Given the description of an element on the screen output the (x, y) to click on. 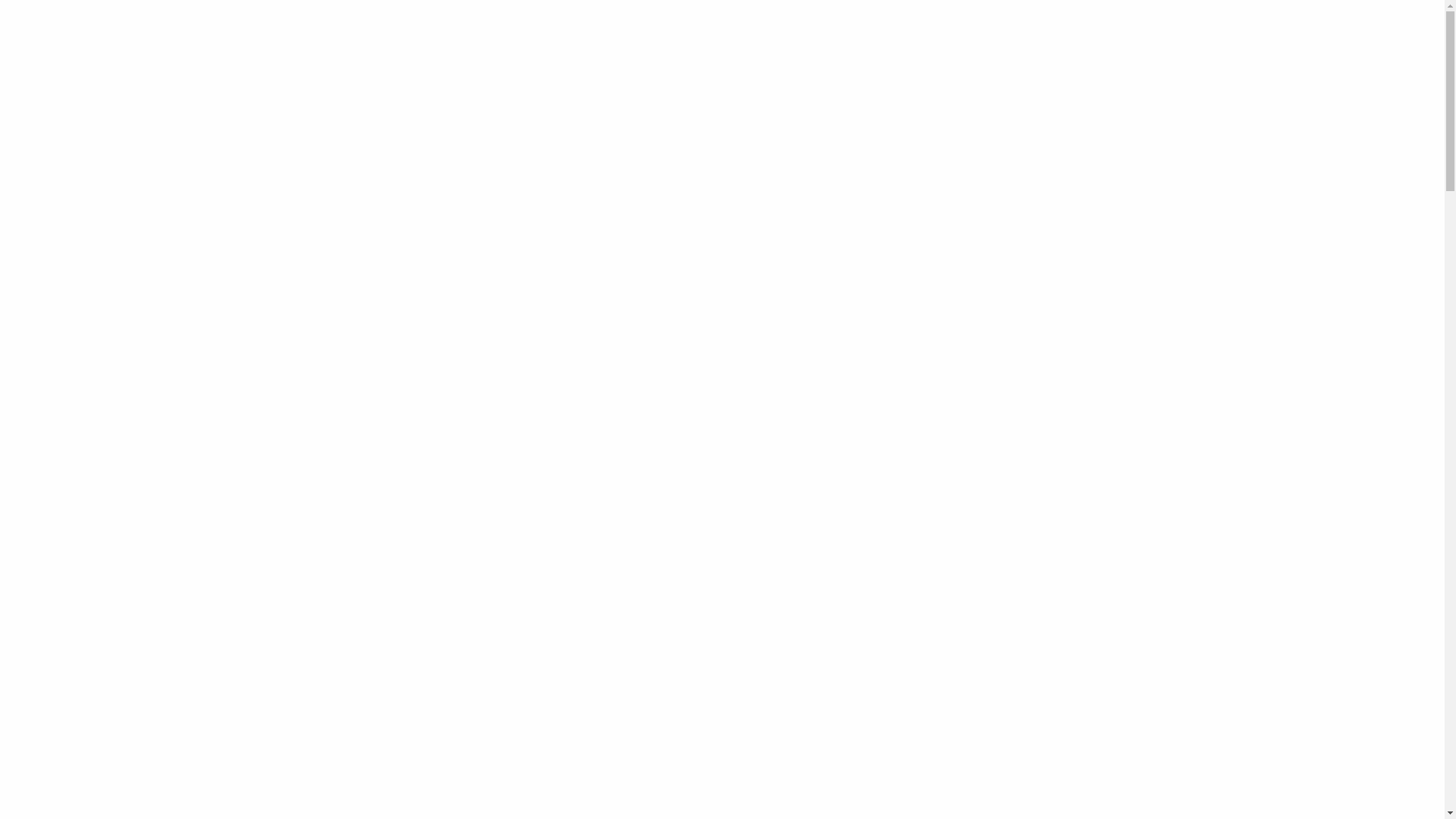
INFO Element type: text (590, 66)
FITFREE Element type: text (734, 66)
HOME Element type: text (544, 66)
WEDSTRIJDEN Element type: text (658, 66)
JOGGING TEAM Element type: text (812, 66)
Search Element type: text (1095, 238)
Home Element type: text (301, 145)
Veldlopen - archief Element type: text (368, 145)
